Given the description of an element on the screen output the (x, y) to click on. 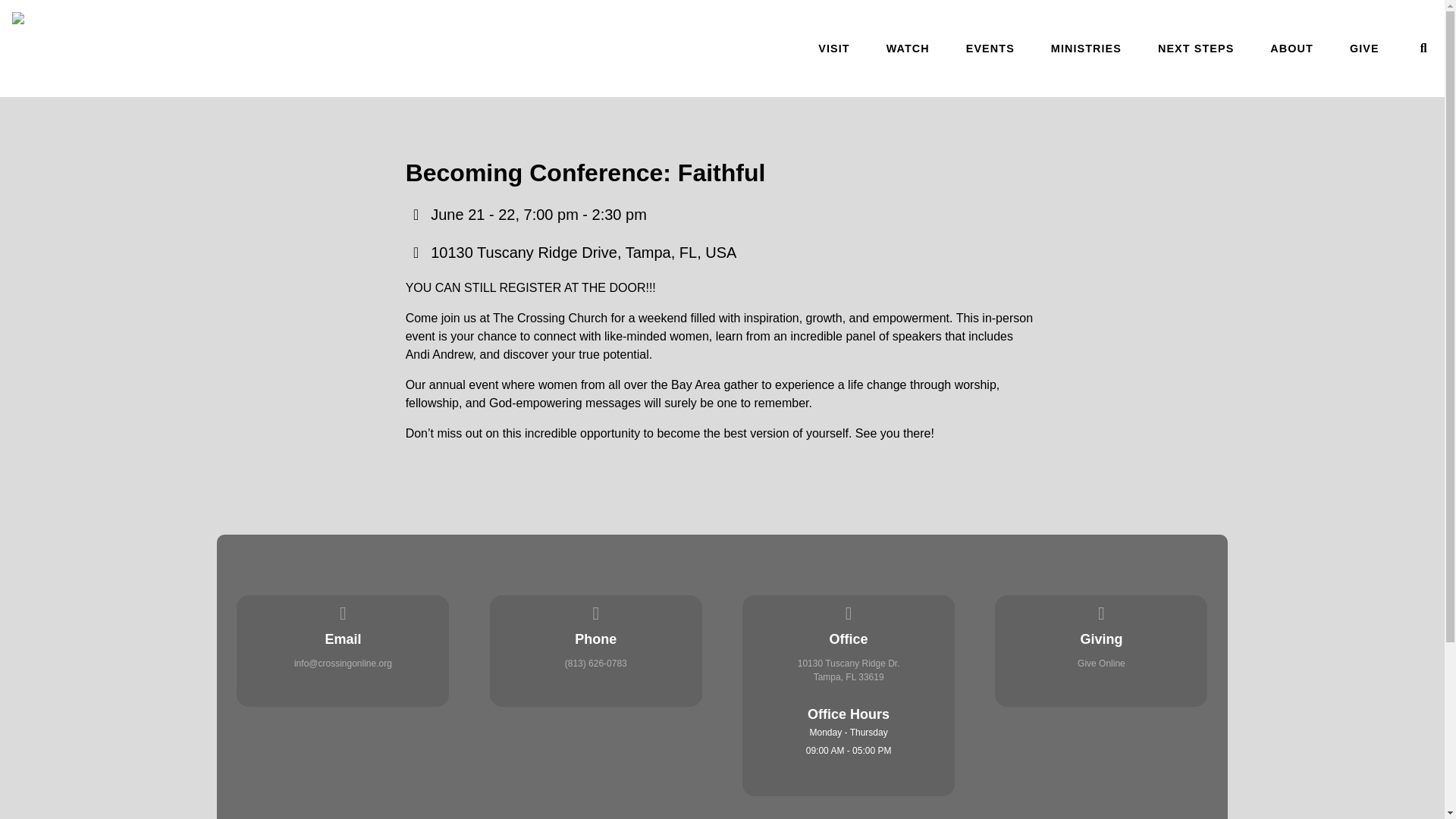
EVENTS (990, 48)
ABOUT (1291, 48)
WATCH (908, 48)
GIVE (1363, 48)
VISIT (833, 48)
NEXT STEPS (1195, 48)
MINISTRIES (1086, 48)
